Given the description of an element on the screen output the (x, y) to click on. 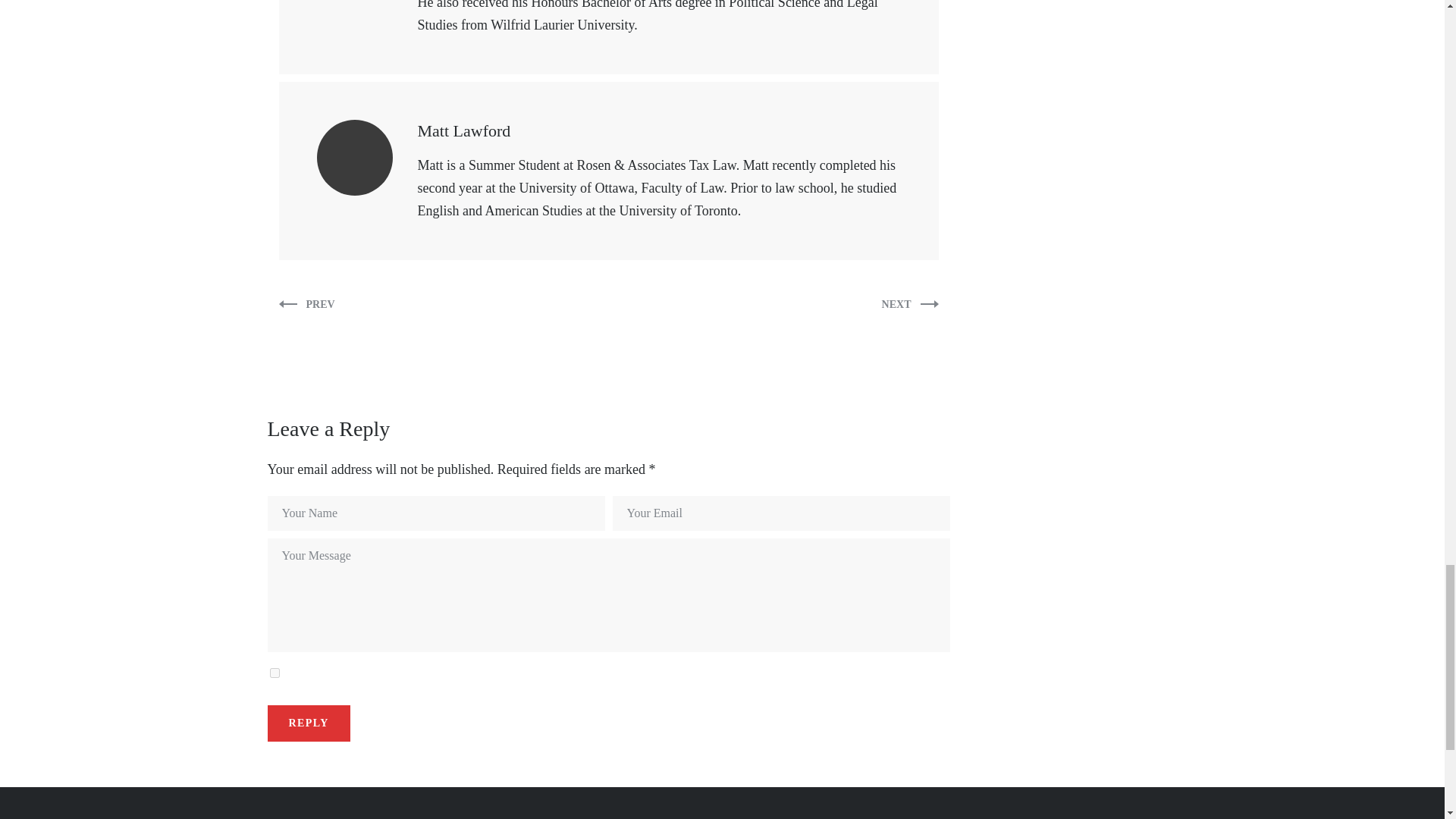
Your Email (781, 513)
yes (274, 673)
The Multigenerational Home Renovation Tax Credit (306, 304)
Your Name (435, 513)
REPLY (307, 723)
